Given the description of an element on the screen output the (x, y) to click on. 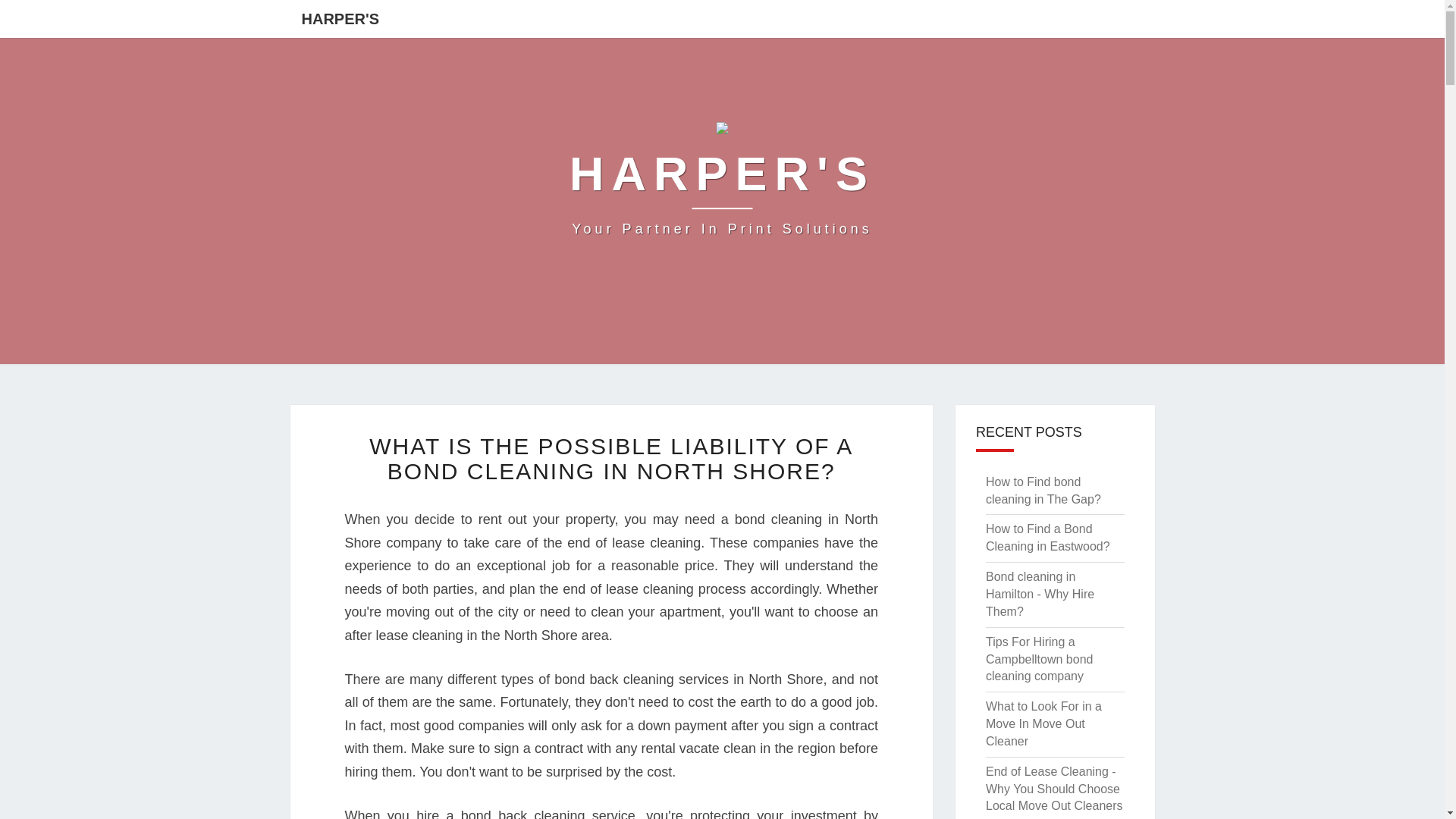
What to Look For in a Move In Move Out Cleaner (1043, 723)
Tips For Hiring a Campbelltown bond cleaning company (1039, 659)
Bond cleaning in Hamilton - Why Hire Them? (1039, 594)
How to Find a Bond Cleaning in Eastwood? (1047, 537)
Harper's (722, 183)
HARPER'S (339, 18)
How to Find bond cleaning in The Gap? (722, 183)
